Given the description of an element on the screen output the (x, y) to click on. 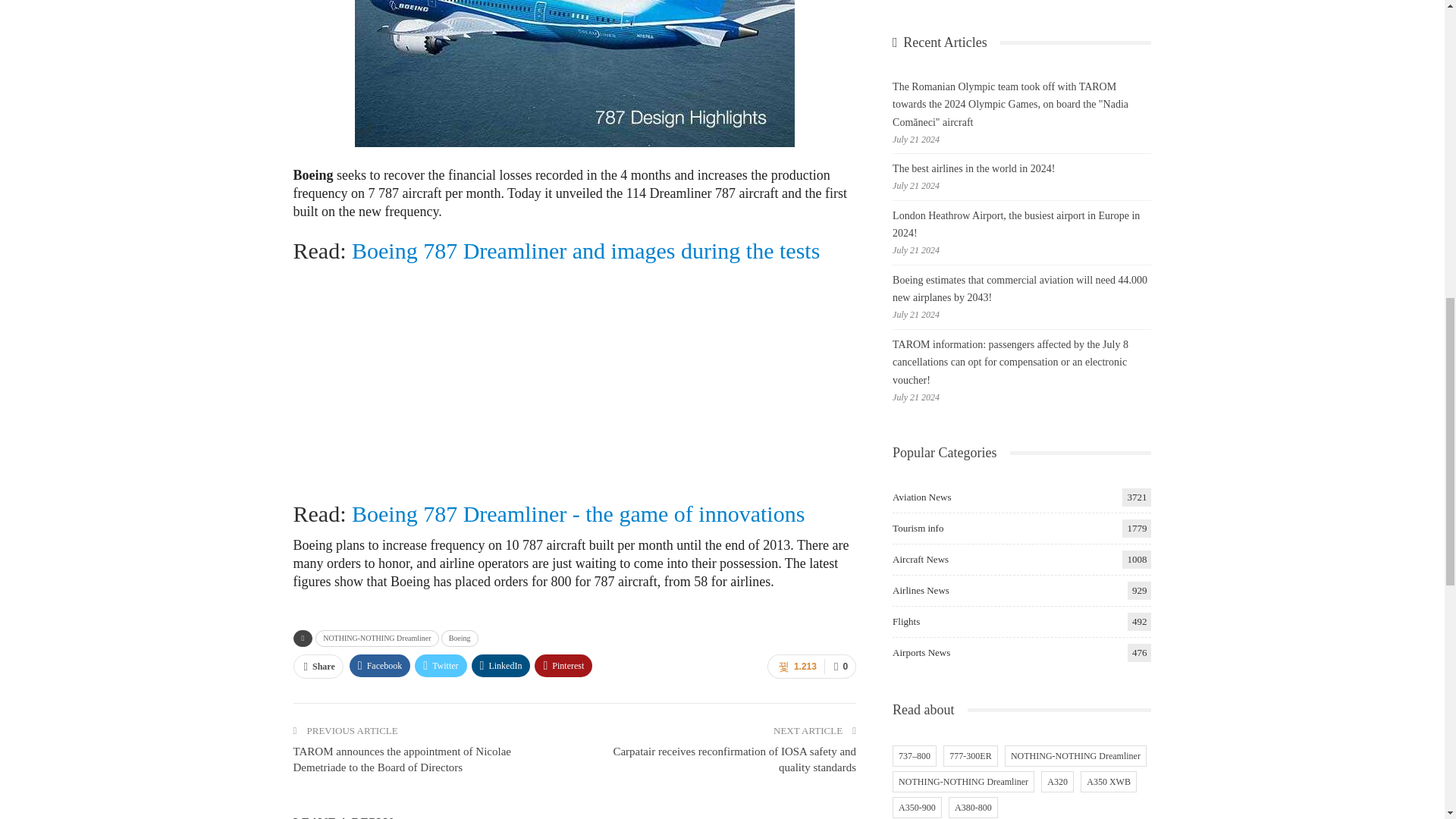
0 (840, 666)
Boeing 787 Dreamliner - the game of innovations (578, 513)
test boeing 787 dreamliner (585, 250)
Twitter (439, 665)
Facebook (379, 665)
Boeing (460, 638)
Boeing 787 Dreamliner and images during the tests (585, 250)
NOTHING-NOTHING Dreamliner (376, 638)
boeing 787 dreamliner innovations (578, 513)
